Given the description of an element on the screen output the (x, y) to click on. 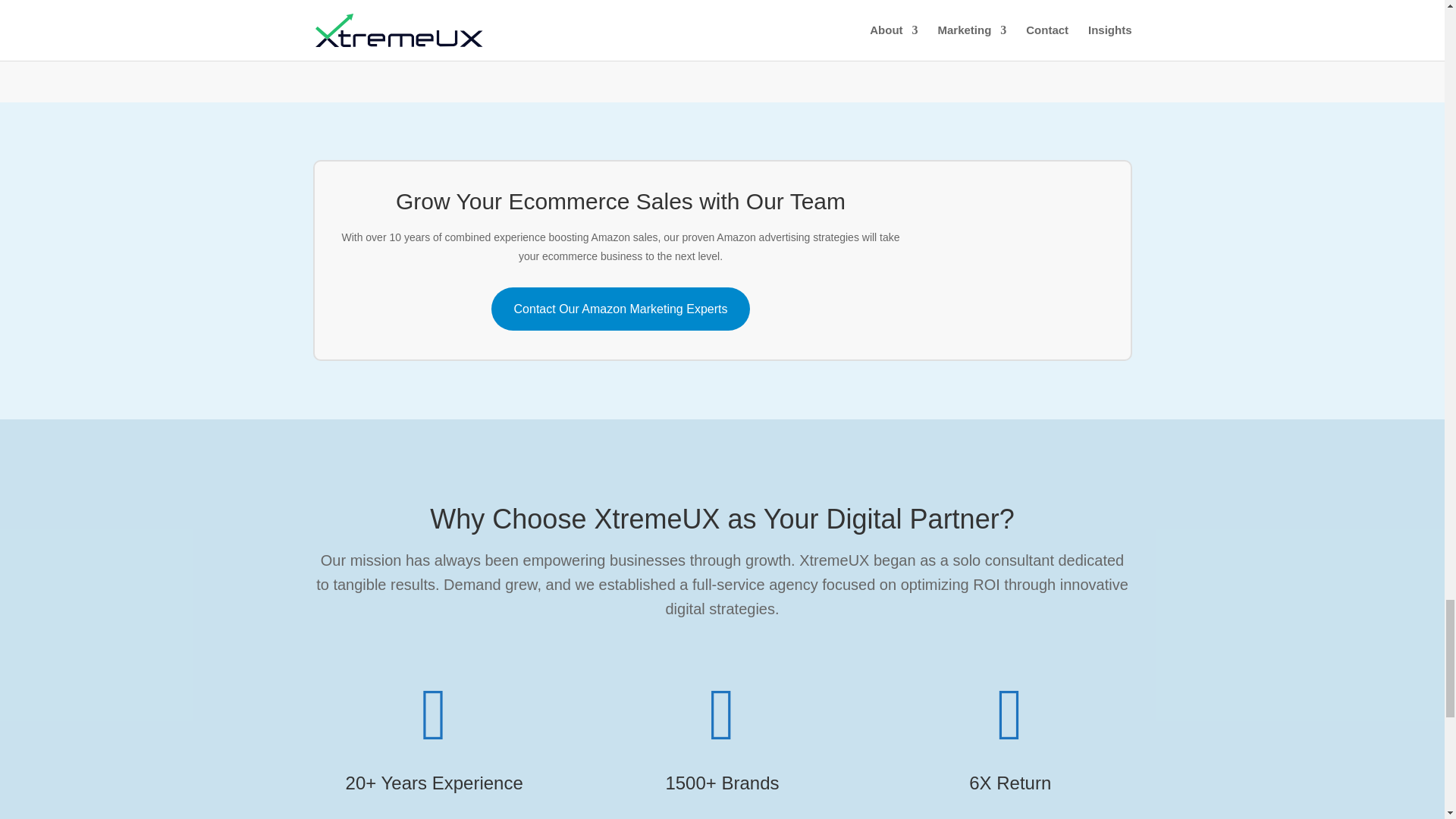
case study custom kilts (722, 7)
Benefits of SEO Audit (1026, 250)
Contact Our Amazon Marketing Experts (621, 308)
